Given the description of an element on the screen output the (x, y) to click on. 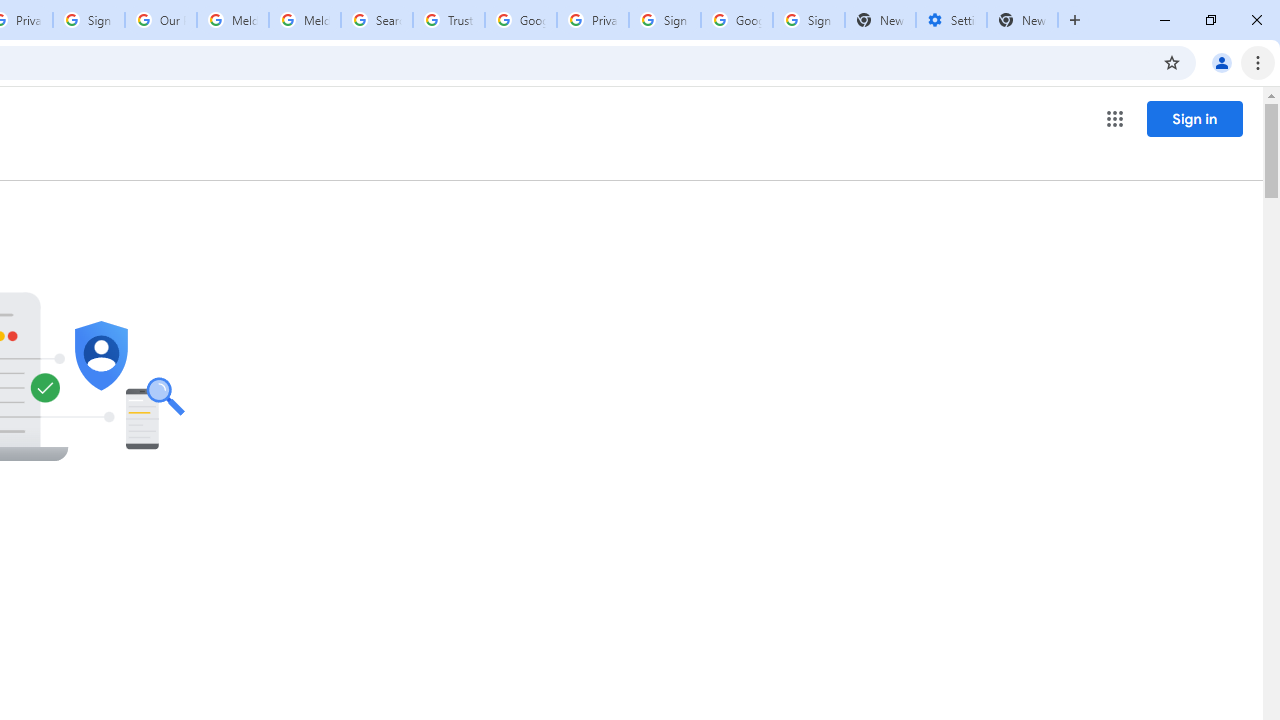
Google Ads - Sign in (520, 20)
Sign in - Google Accounts (808, 20)
Settings - Addresses and more (951, 20)
Trusted Information and Content - Google Safety Center (449, 20)
Google Cybersecurity Innovations - Google Safety Center (737, 20)
Sign in - Google Accounts (664, 20)
